Given the description of an element on the screen output the (x, y) to click on. 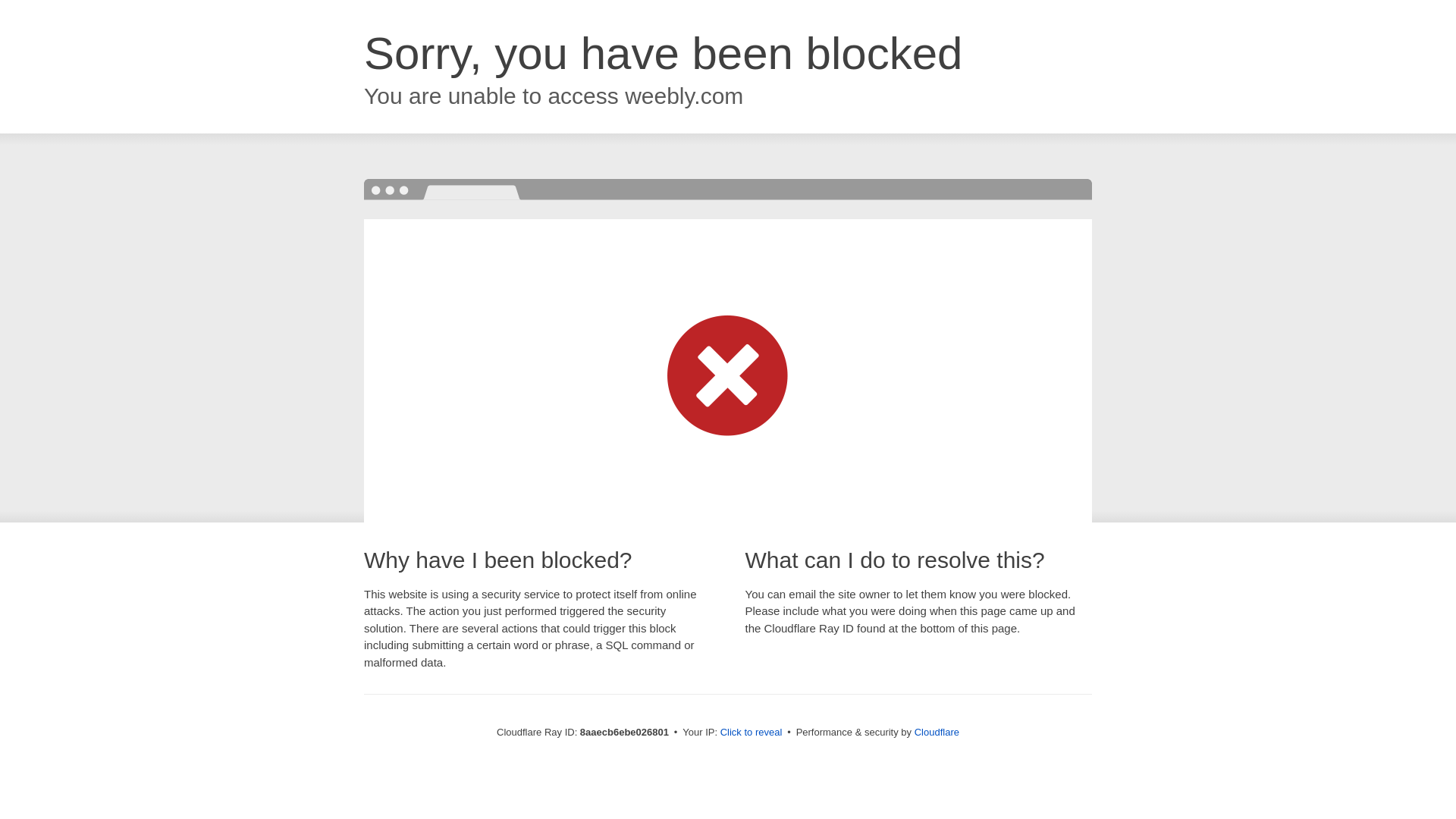
Click to reveal (751, 732)
Cloudflare (936, 731)
